Given the description of an element on the screen output the (x, y) to click on. 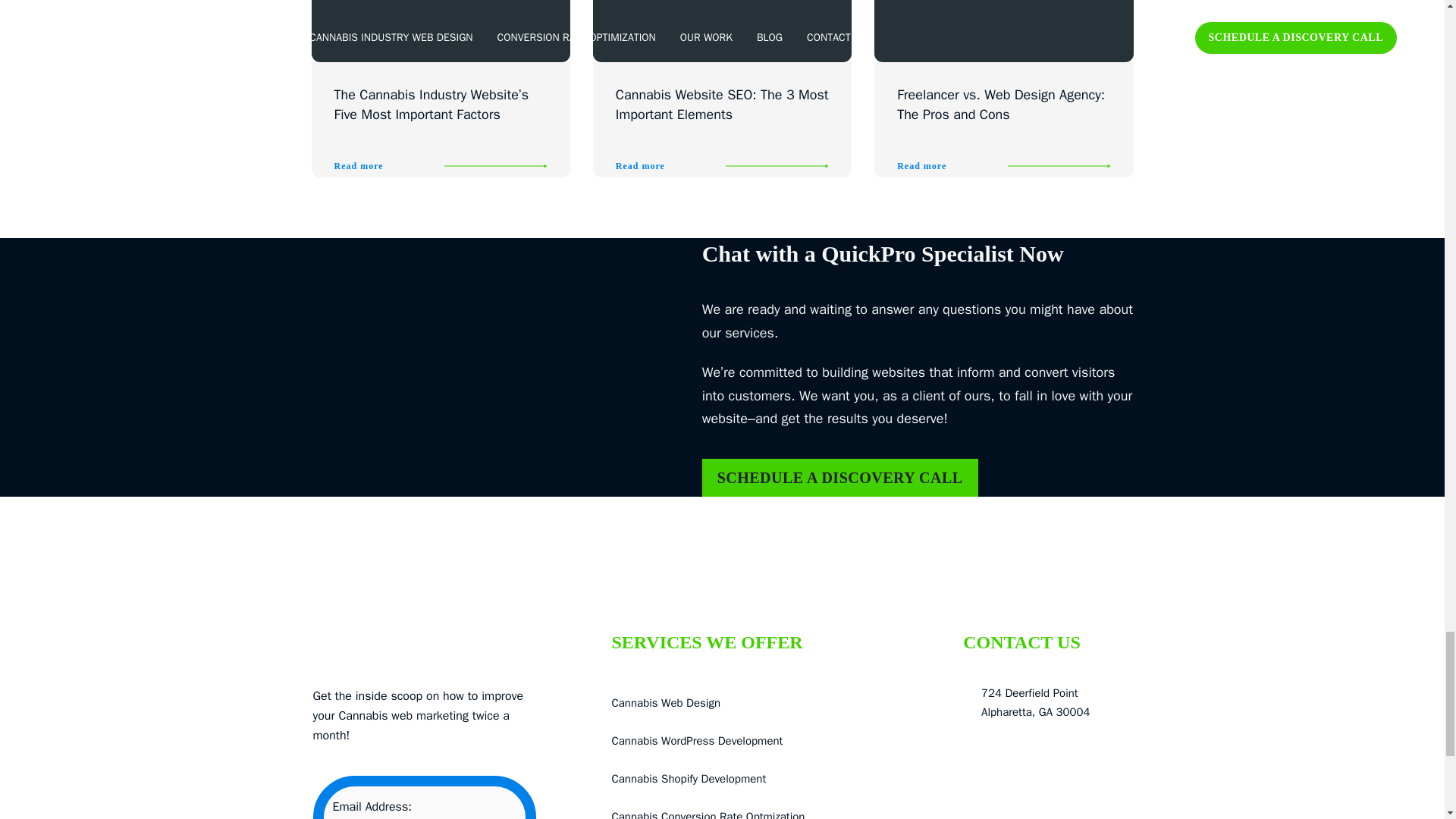
Read more (384, 165)
Read more (667, 165)
